Given the description of an element on the screen output the (x, y) to click on. 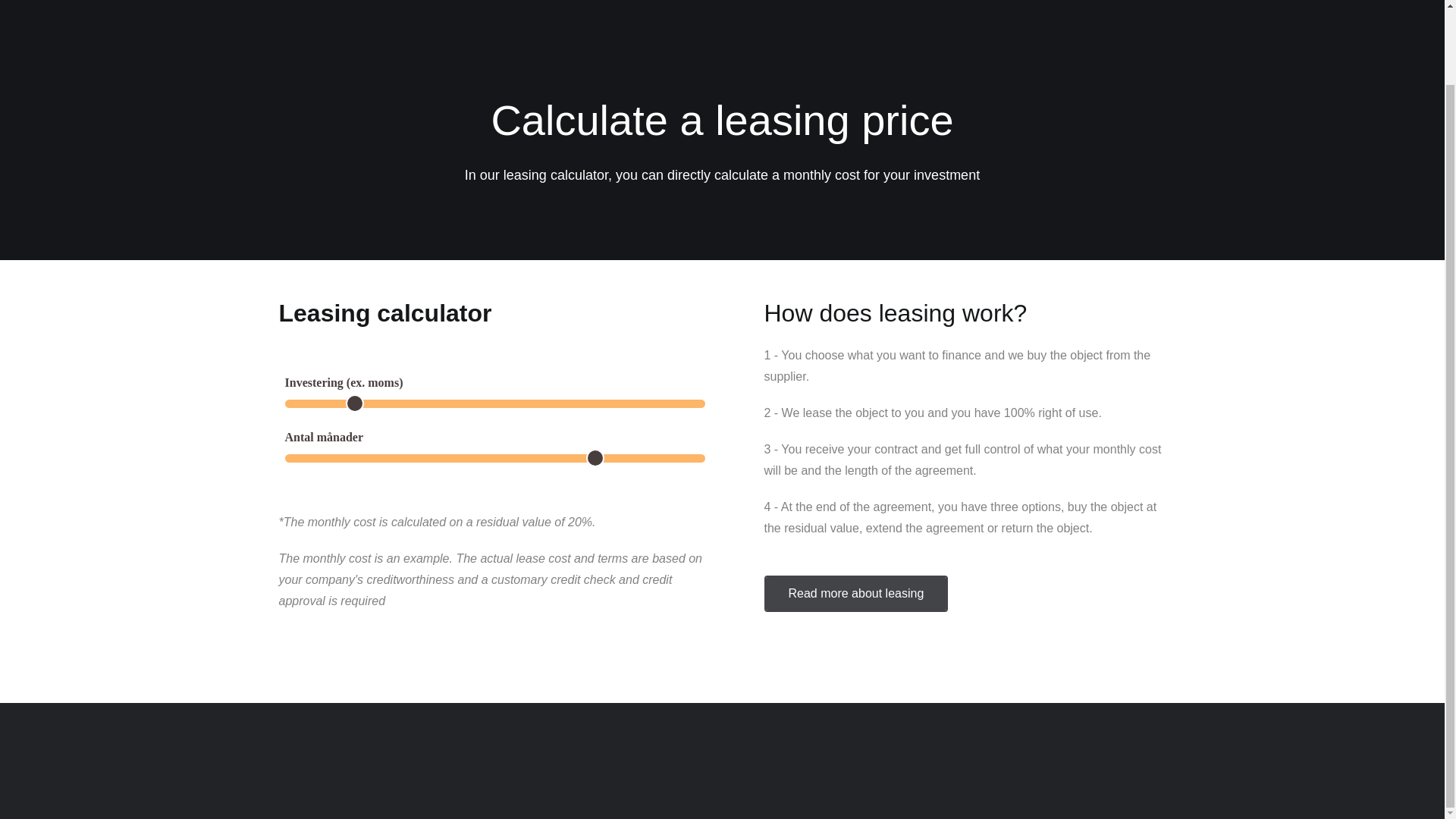
Read more about leasing (856, 593)
60 (494, 458)
500000 (494, 403)
